Given the description of an element on the screen output the (x, y) to click on. 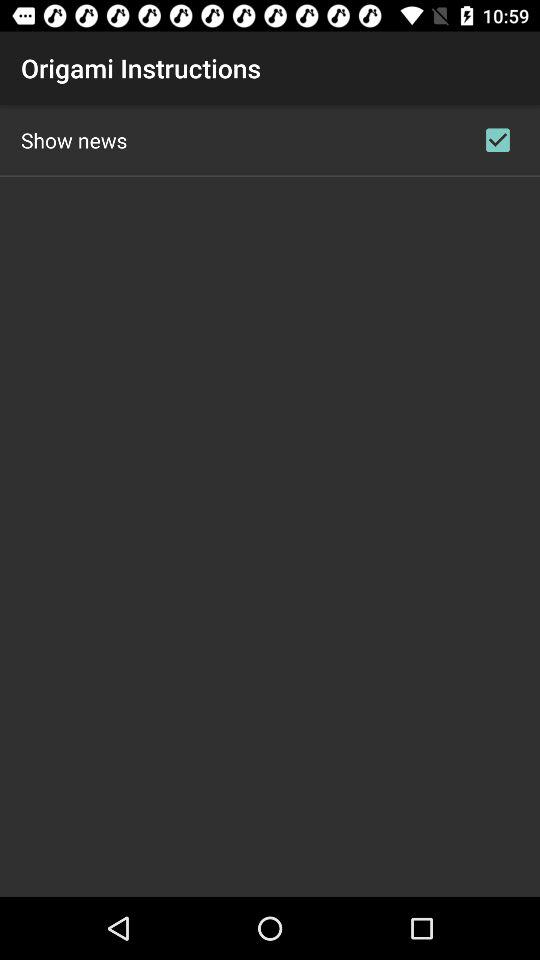
flip to the show news icon (74, 139)
